Given the description of an element on the screen output the (x, y) to click on. 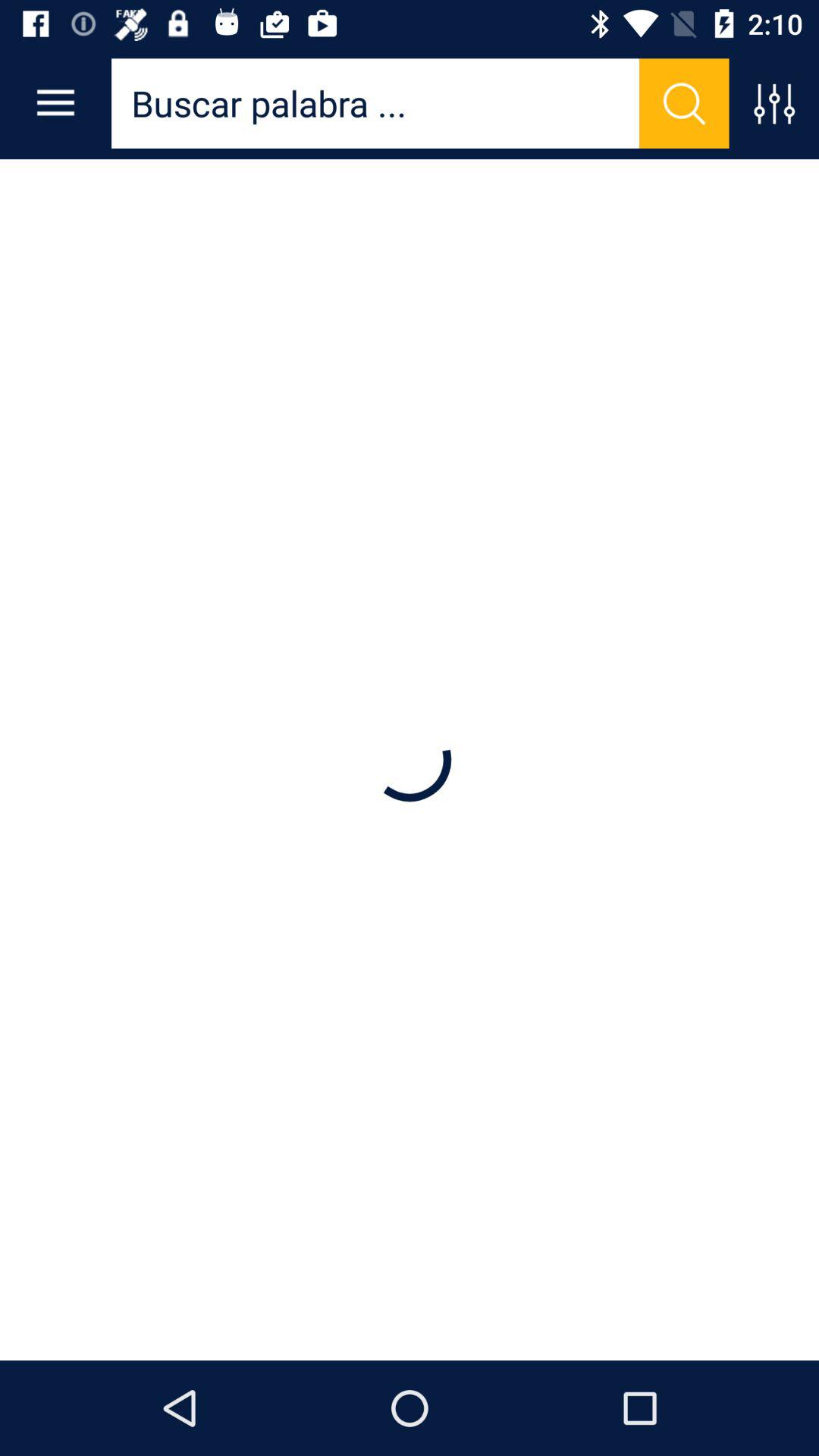
turn off the icon at the top left corner (55, 103)
